Given the description of an element on the screen output the (x, y) to click on. 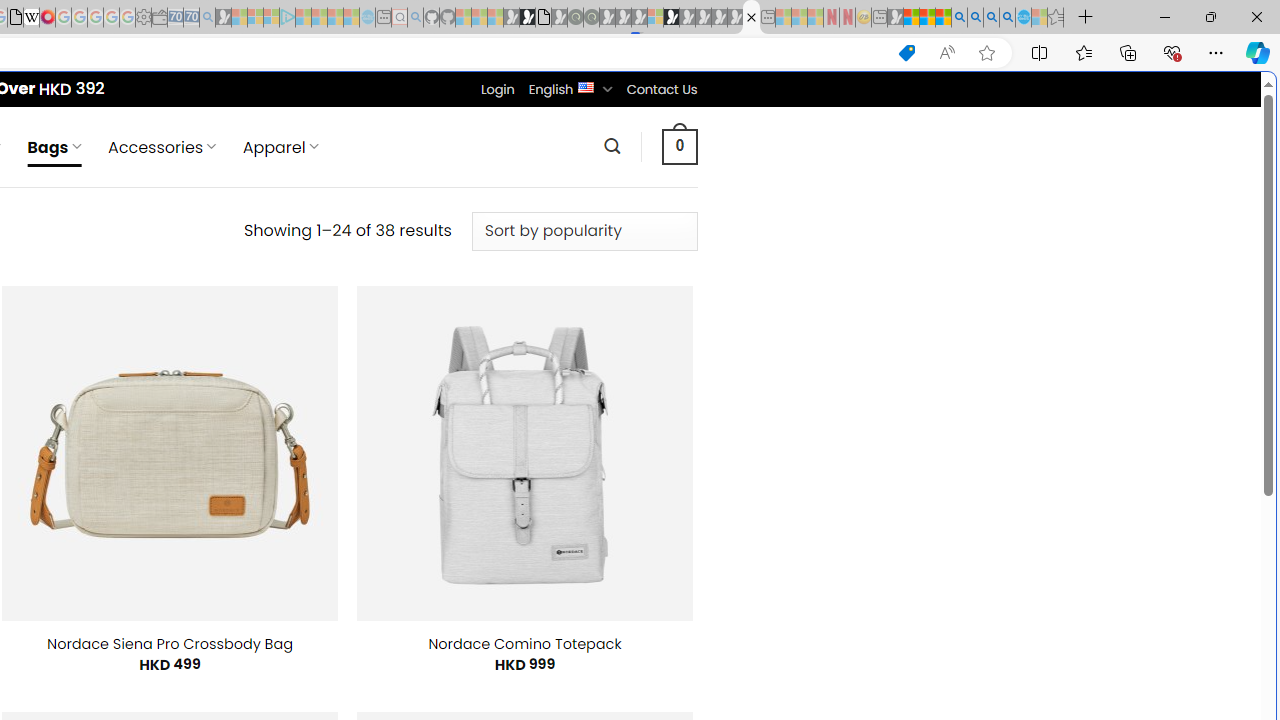
Shop order (584, 231)
Bing AI - Search (959, 17)
English (586, 86)
Contact Us (661, 89)
